Given the description of an element on the screen output the (x, y) to click on. 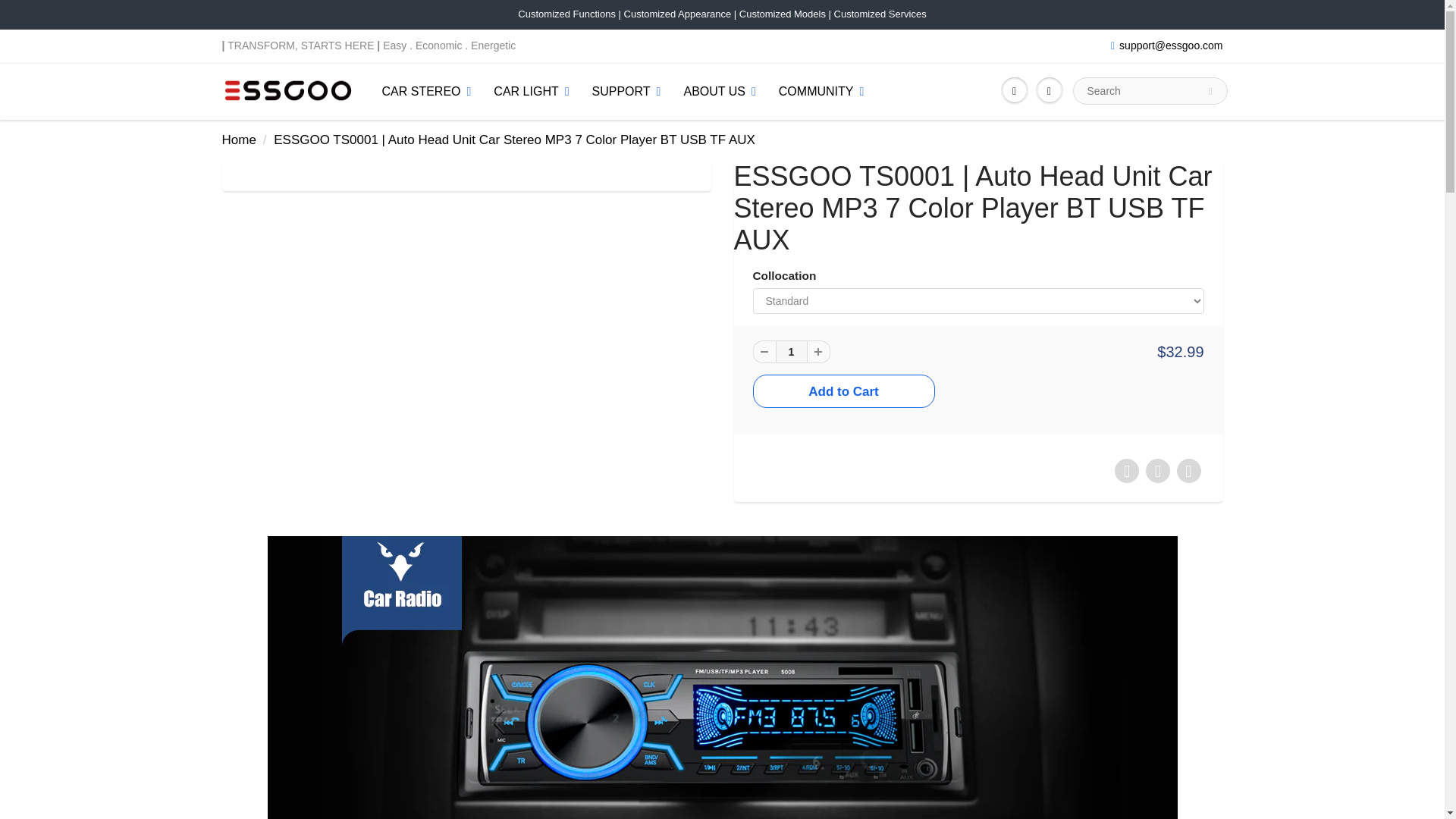
CAR LIGHT (530, 91)
Home (238, 139)
1 (790, 351)
ABOUT US (719, 91)
Add to Cart (843, 390)
SUPPORT (626, 91)
CAR STEREO (425, 91)
